Given the description of an element on the screen output the (x, y) to click on. 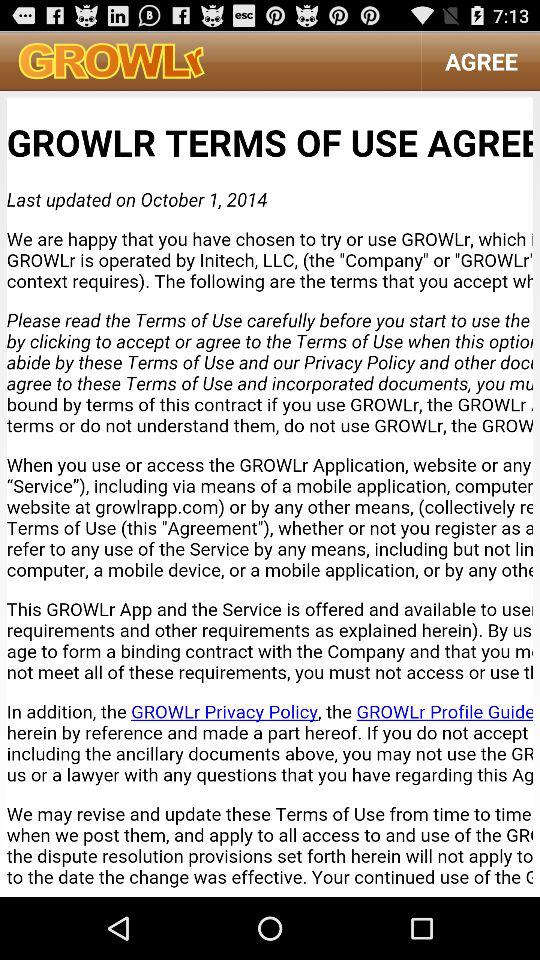
files (269, 493)
